Given the description of an element on the screen output the (x, y) to click on. 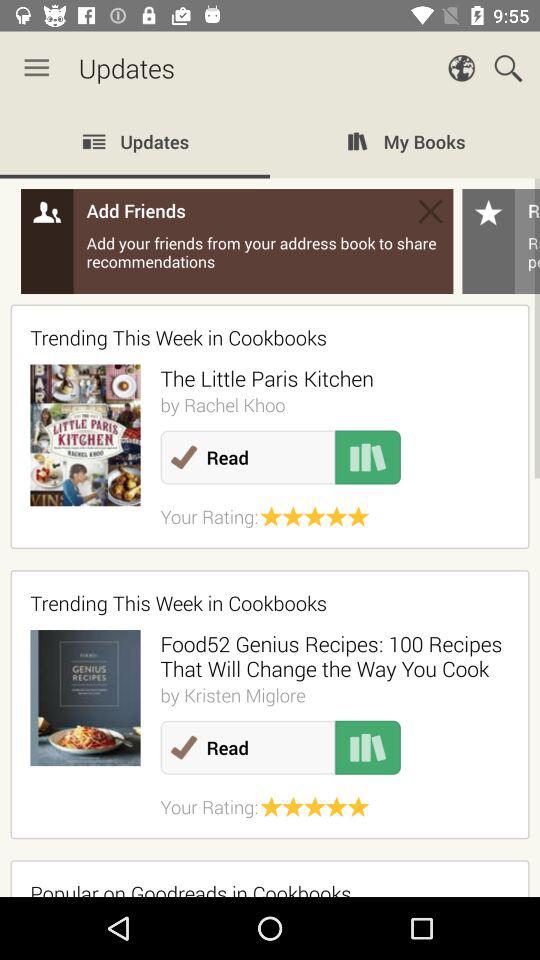
go to closed option (430, 211)
